Given the description of an element on the screen output the (x, y) to click on. 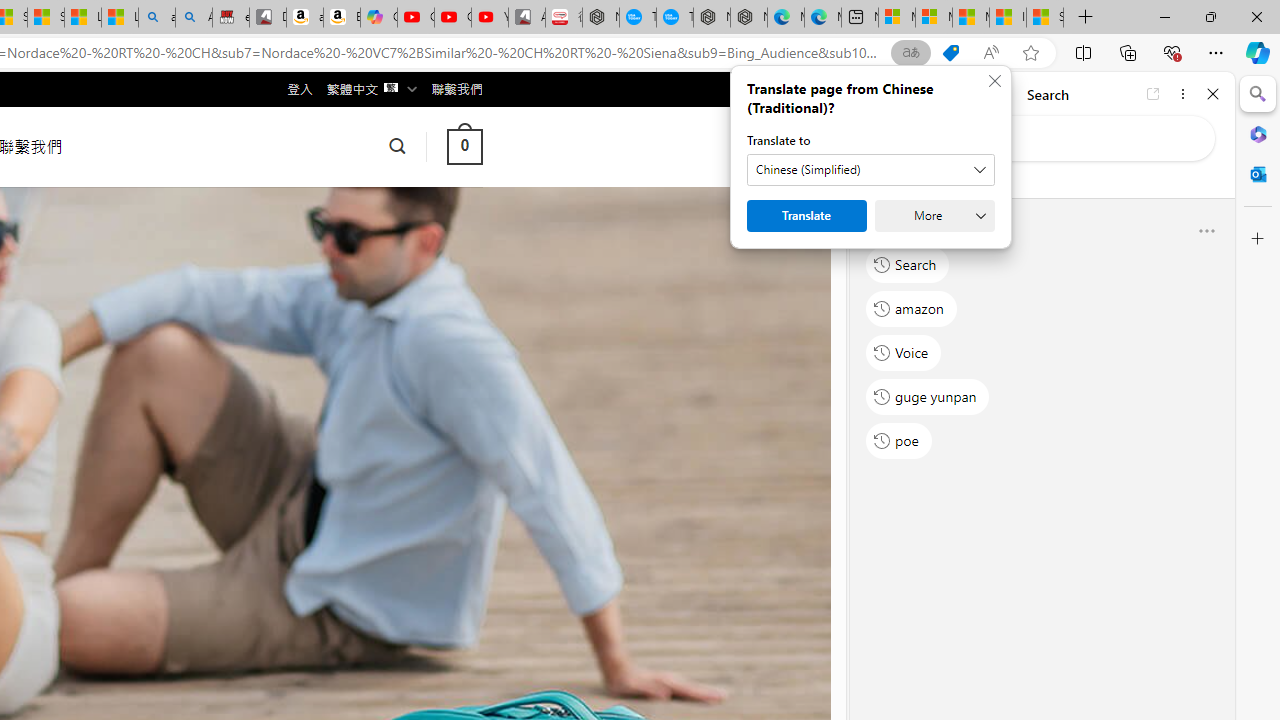
amazon (911, 308)
Copilot (378, 17)
This site has coupons! Shopping in Microsoft Edge (950, 53)
Customize (1258, 239)
  0   (464, 146)
Outlook (1258, 174)
